Given the description of an element on the screen output the (x, y) to click on. 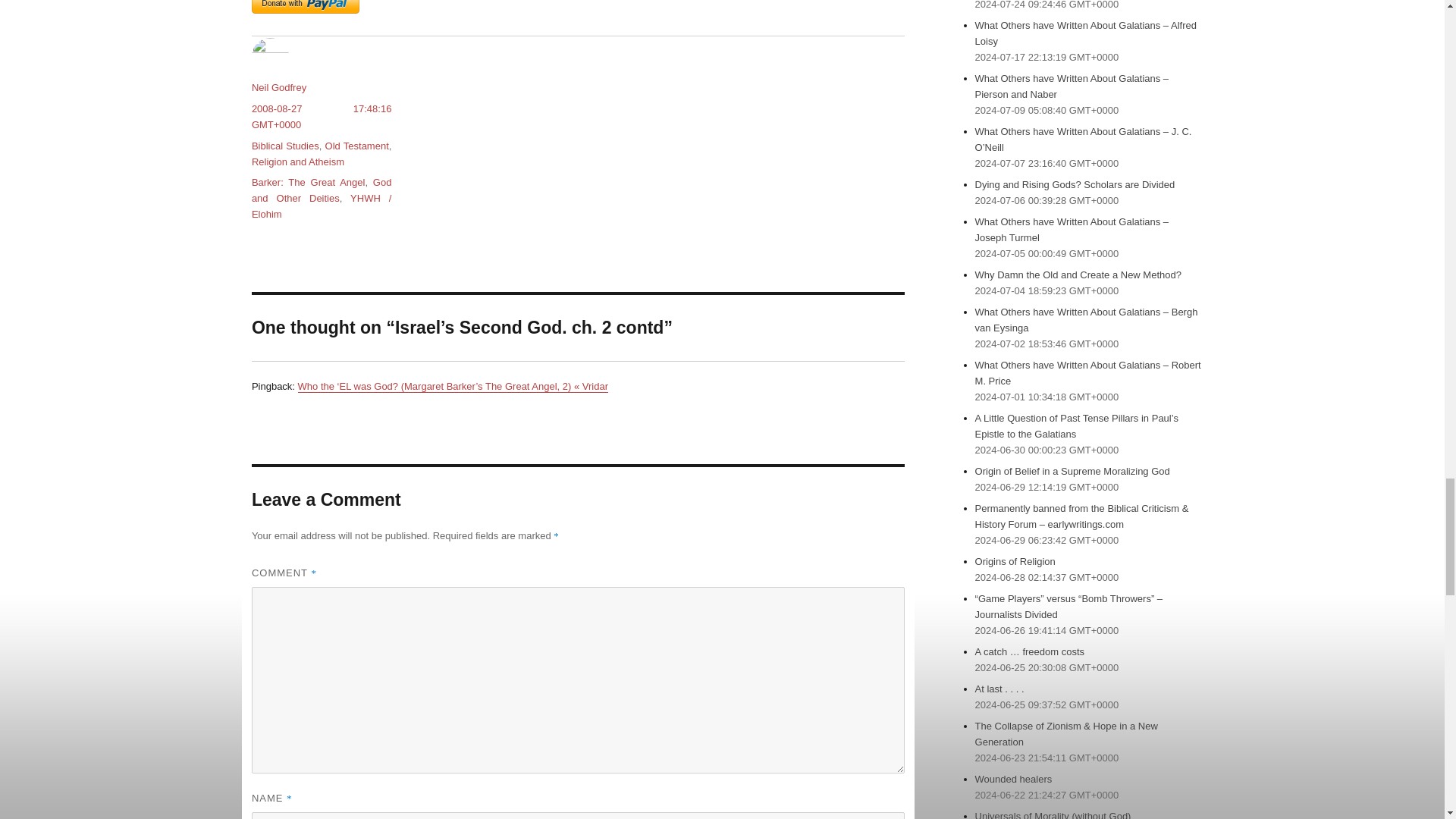
Biblical Studies (284, 145)
Barker: The Great Angel (308, 182)
God and Other Deities (321, 189)
Religion and Atheism (297, 161)
Neil Godfrey (278, 87)
Old Testament (356, 145)
